Given the description of an element on the screen output the (x, y) to click on. 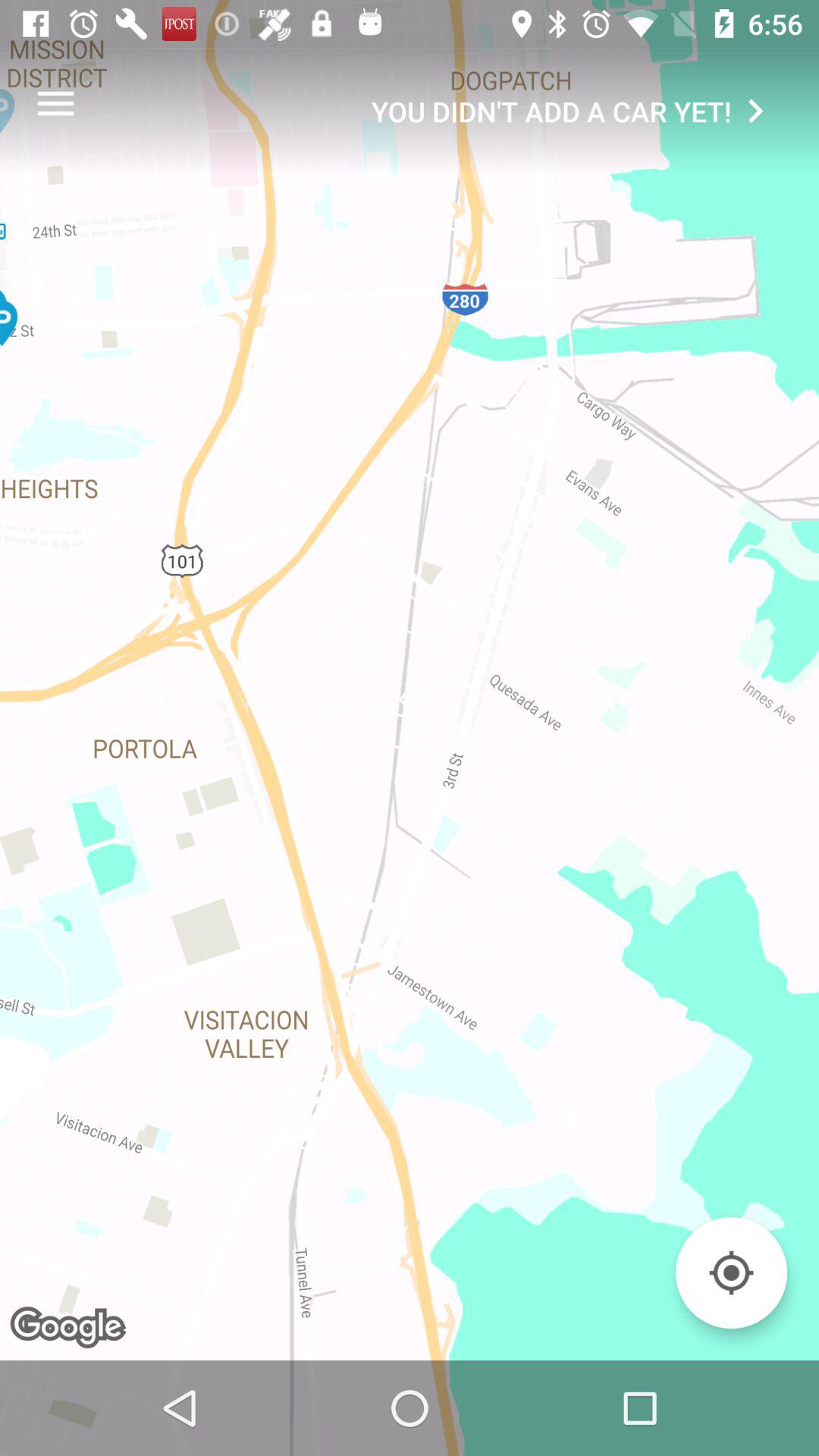
launch the icon next to you didn t item (55, 103)
